Given the description of an element on the screen output the (x, y) to click on. 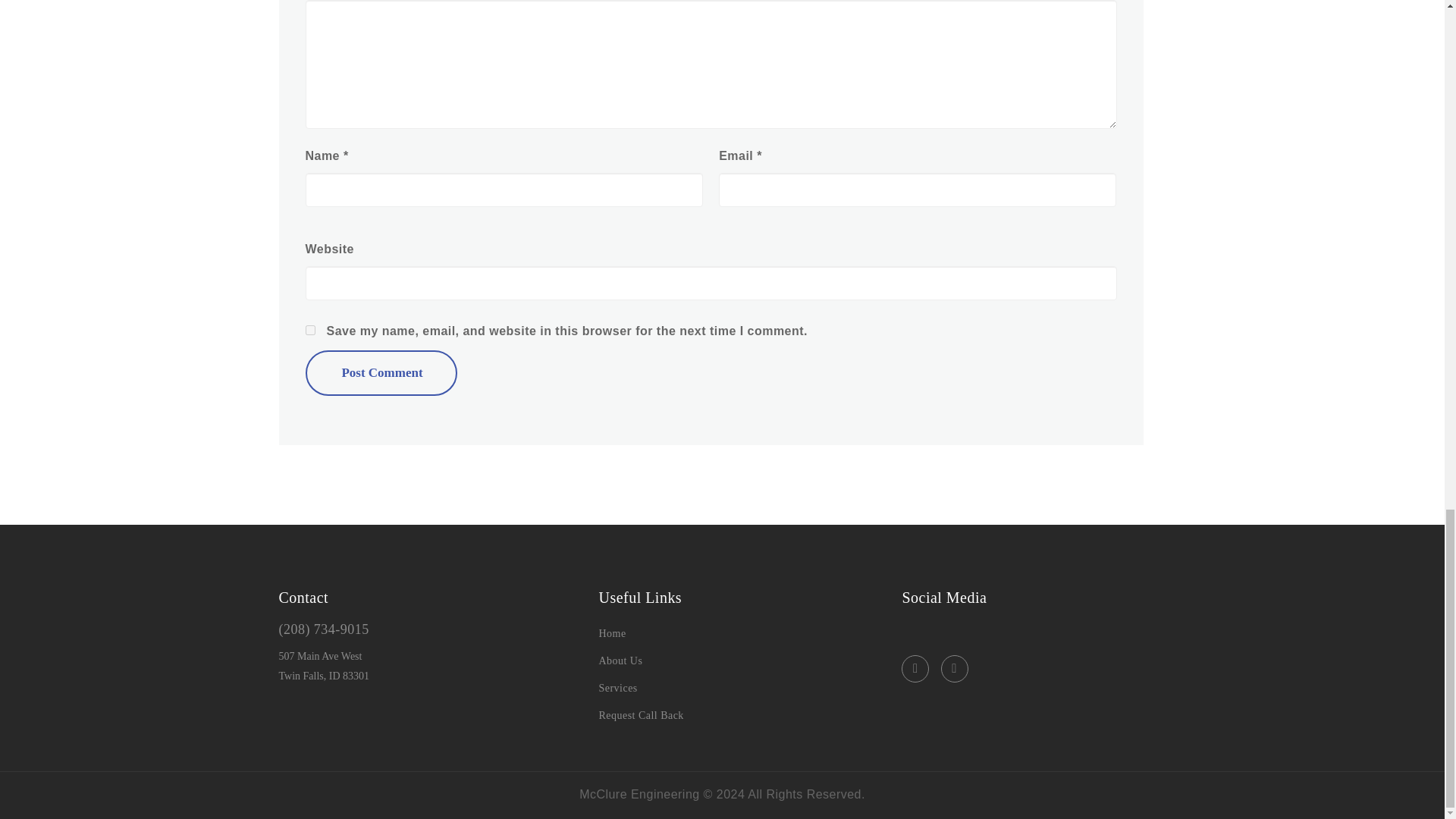
Services (617, 687)
Request Call Back (640, 715)
Post Comment (380, 372)
About Us (620, 660)
Home (612, 633)
Post Comment (380, 372)
yes (309, 329)
